Given the description of an element on the screen output the (x, y) to click on. 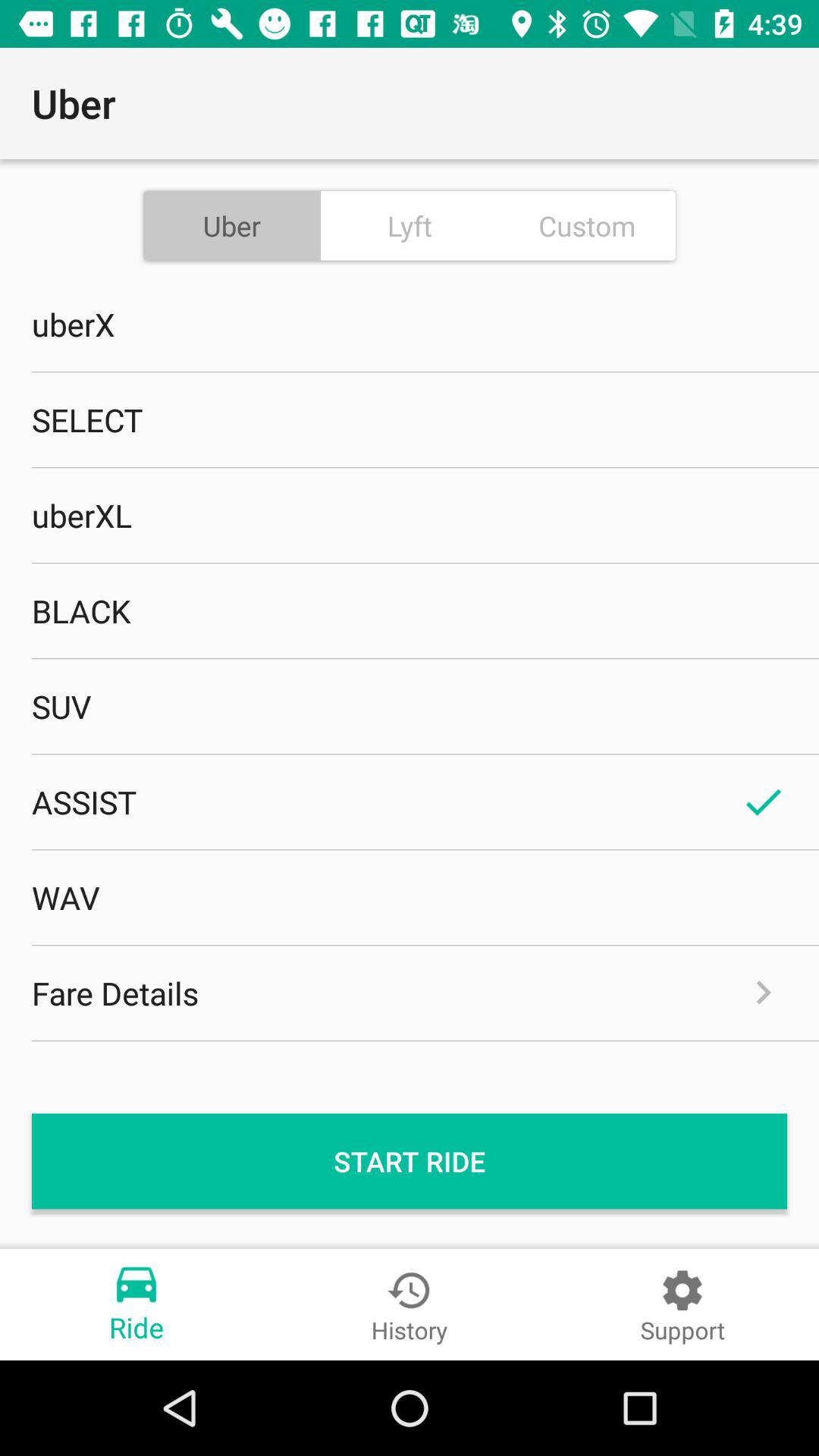
tap the black (409, 610)
